Given the description of an element on the screen output the (x, y) to click on. 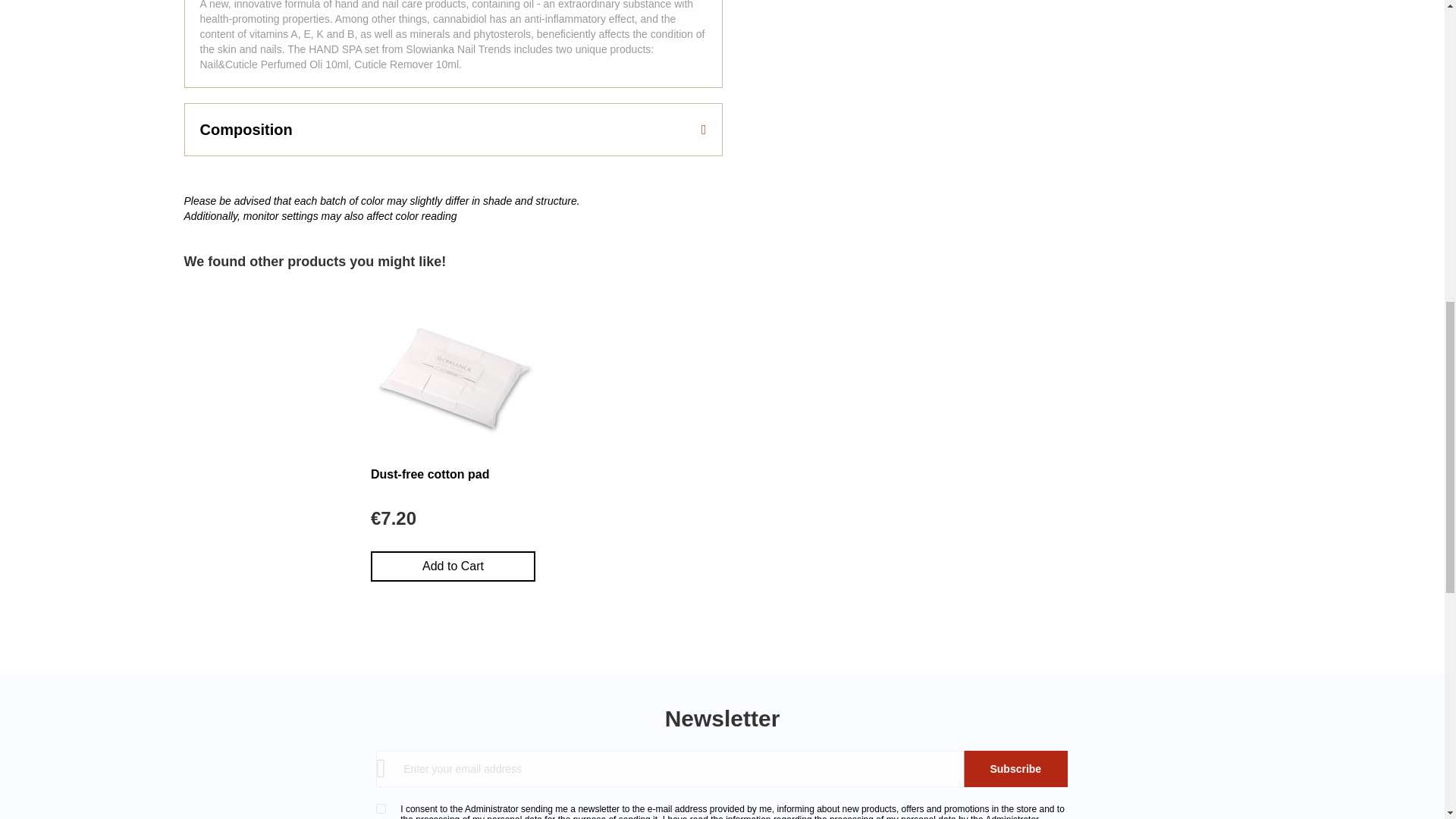
1 (380, 808)
